Given the description of an element on the screen output the (x, y) to click on. 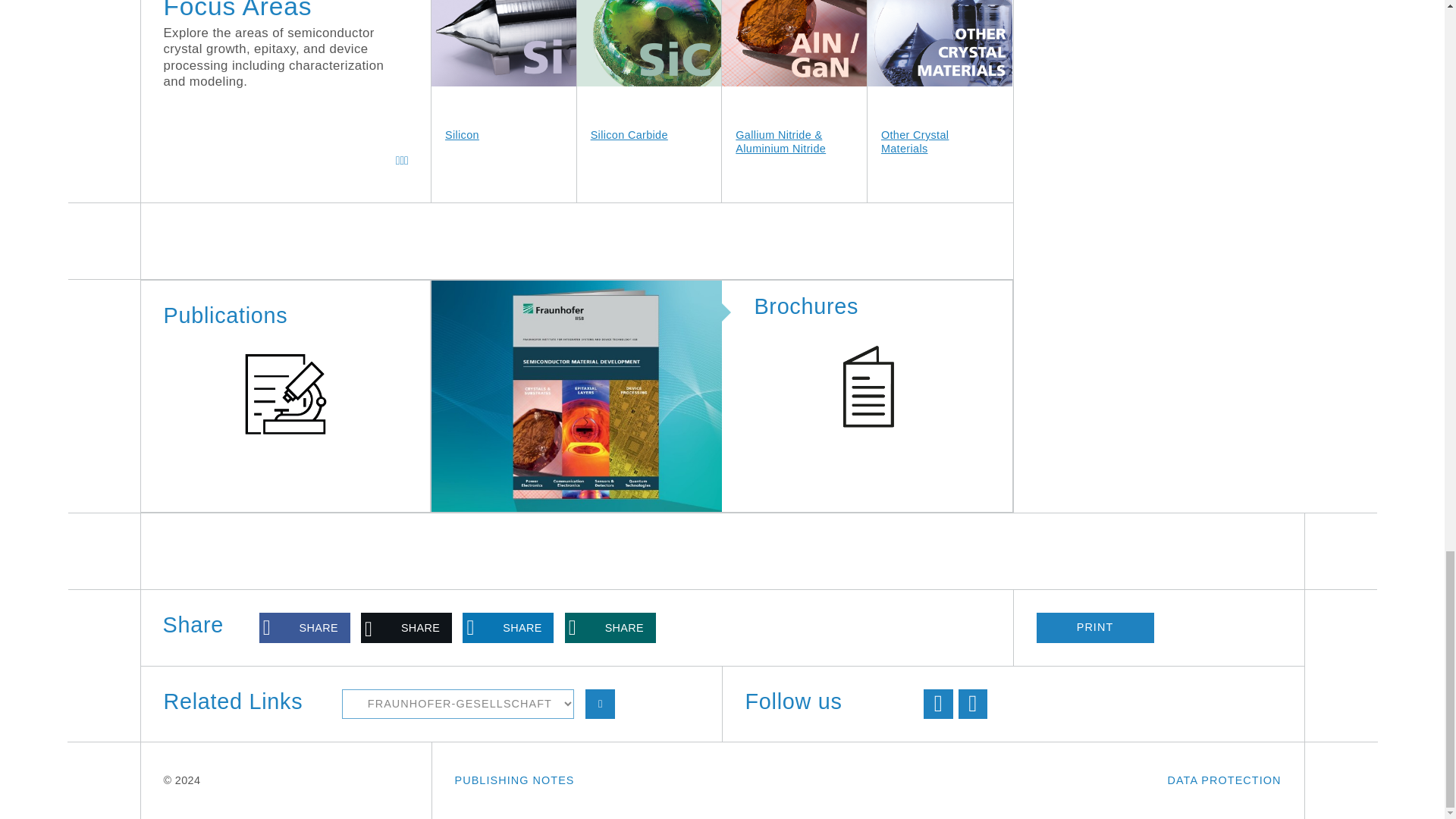
Share on X (406, 627)
Share on Facebook (304, 627)
Share on XING (610, 627)
Share on LinkedIn (508, 627)
